Given the description of an element on the screen output the (x, y) to click on. 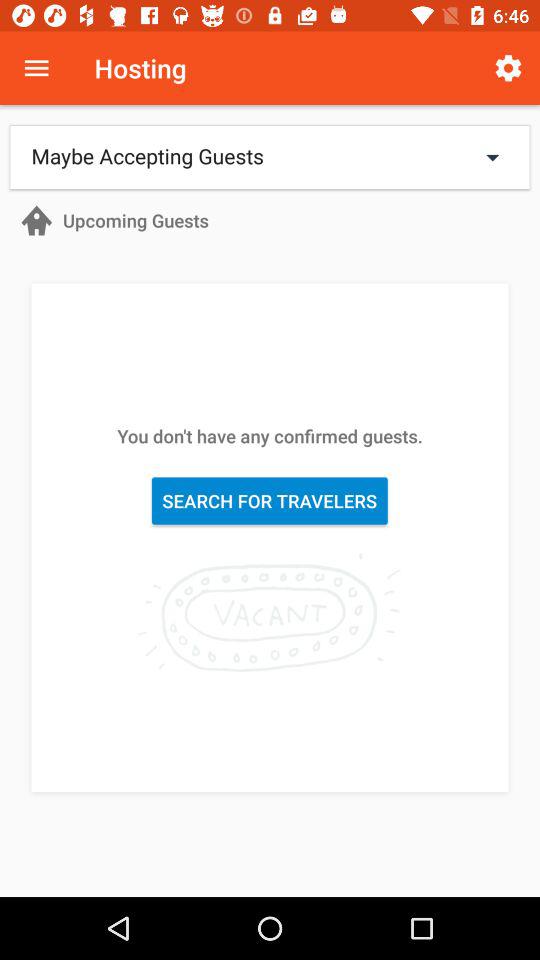
go to menu (36, 68)
